Given the description of an element on the screen output the (x, y) to click on. 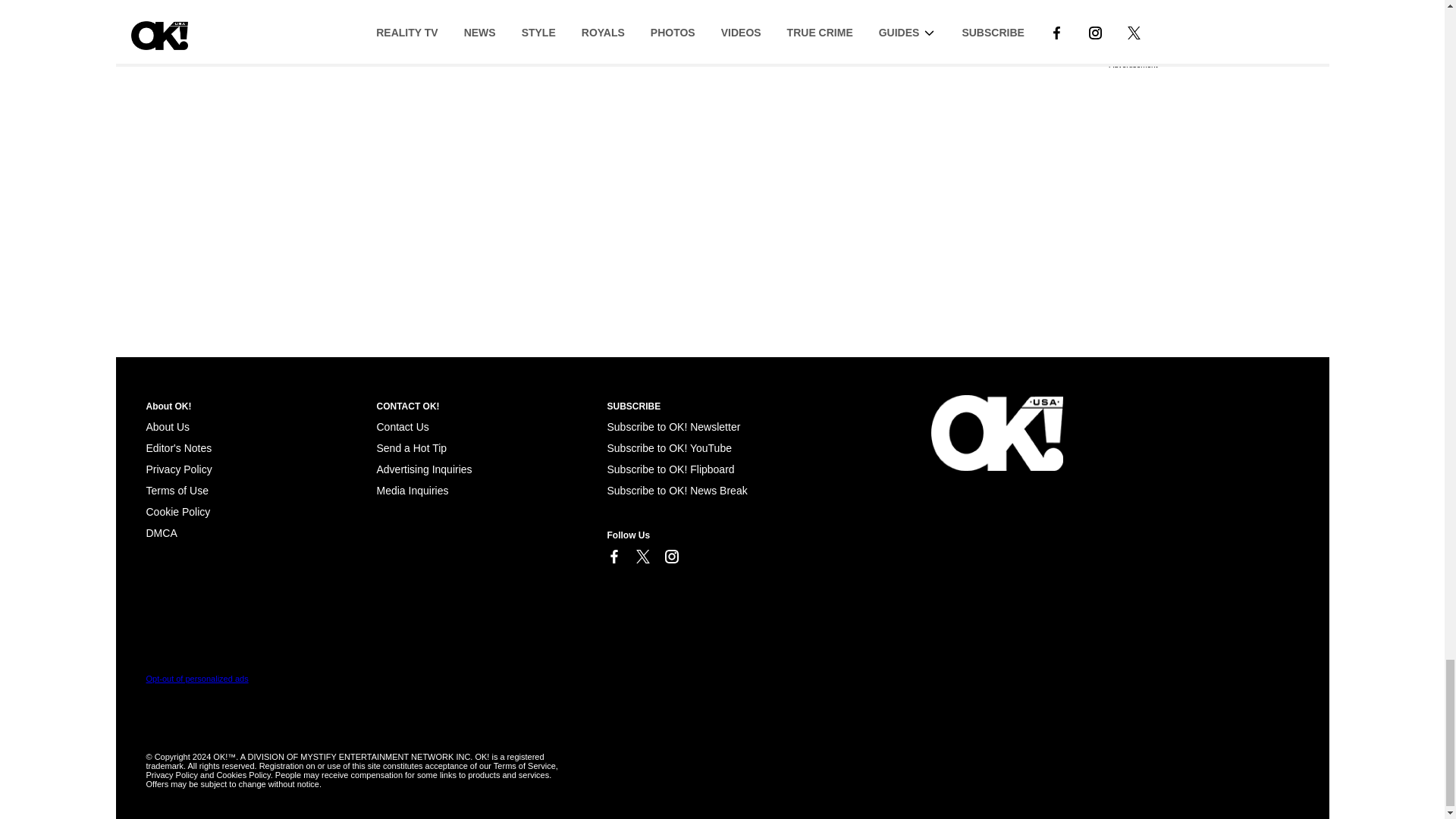
Contact Us (401, 426)
Editor's Notes (178, 448)
Privacy Policy (178, 469)
Link to Instagram (670, 556)
Send a Hot Tip (410, 448)
About Us (167, 426)
Cookie Policy (177, 511)
Link to X (641, 556)
Cookie Policy (160, 532)
Terms of Use (176, 490)
